Given the description of an element on the screen output the (x, y) to click on. 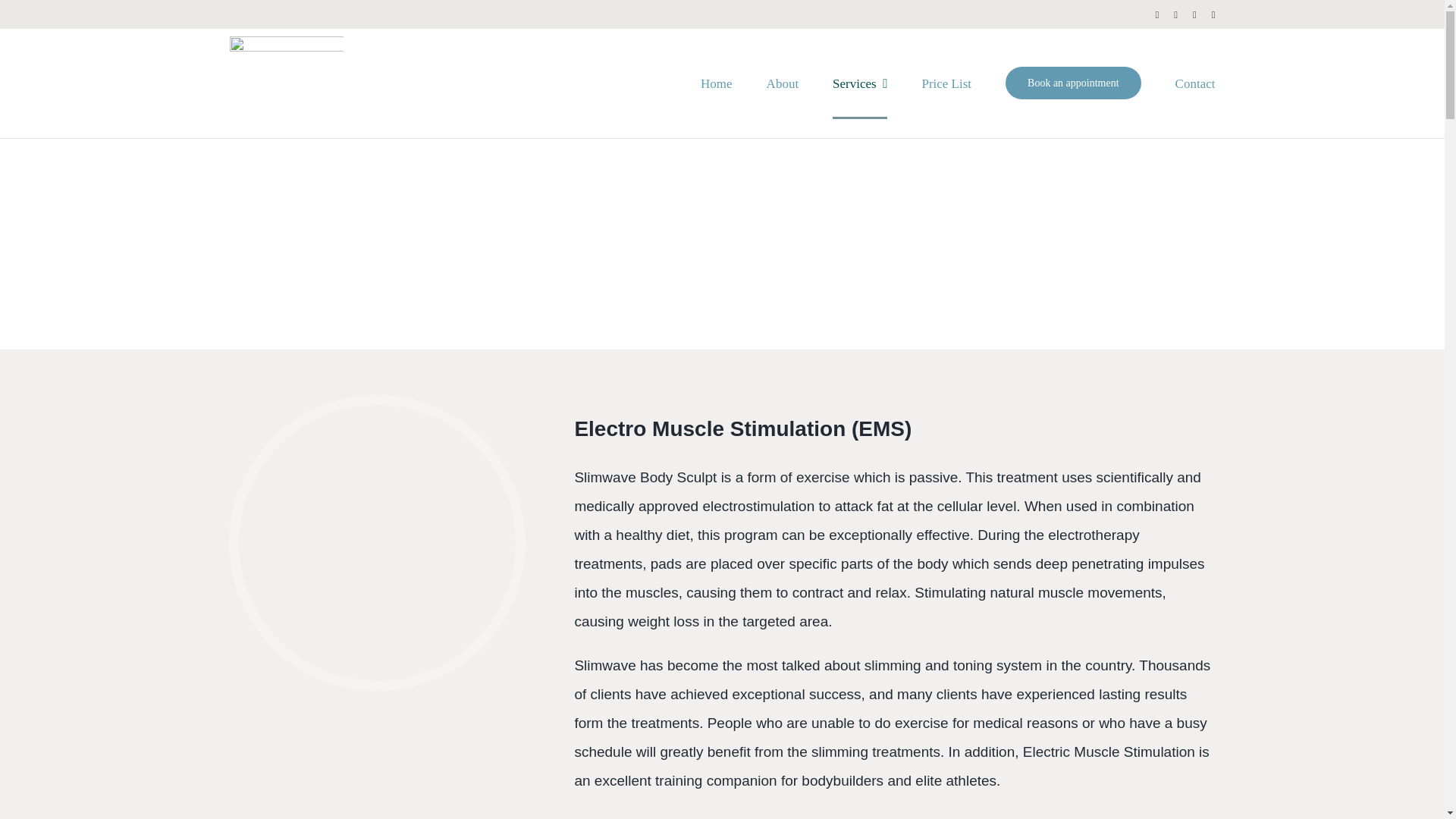
Home (716, 82)
Book an appointment (1073, 82)
Instagram (1194, 14)
Price List (946, 82)
Services (859, 82)
Contact (1194, 82)
LinkedIn (1213, 14)
Slimeware (376, 542)
About (783, 82)
X (1175, 14)
